Given the description of an element on the screen output the (x, y) to click on. 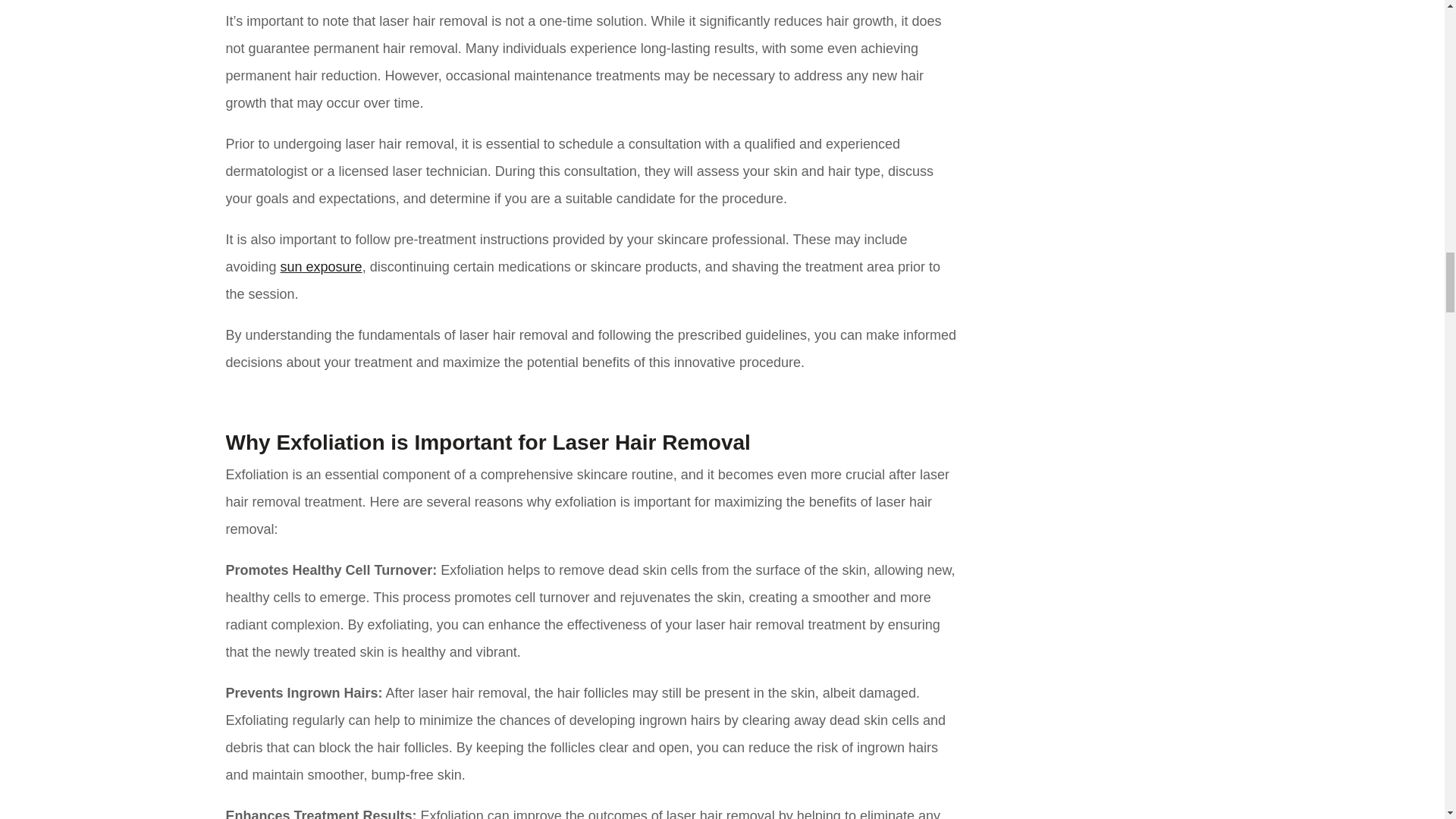
sun exposure (321, 266)
